Given the description of an element on the screen output the (x, y) to click on. 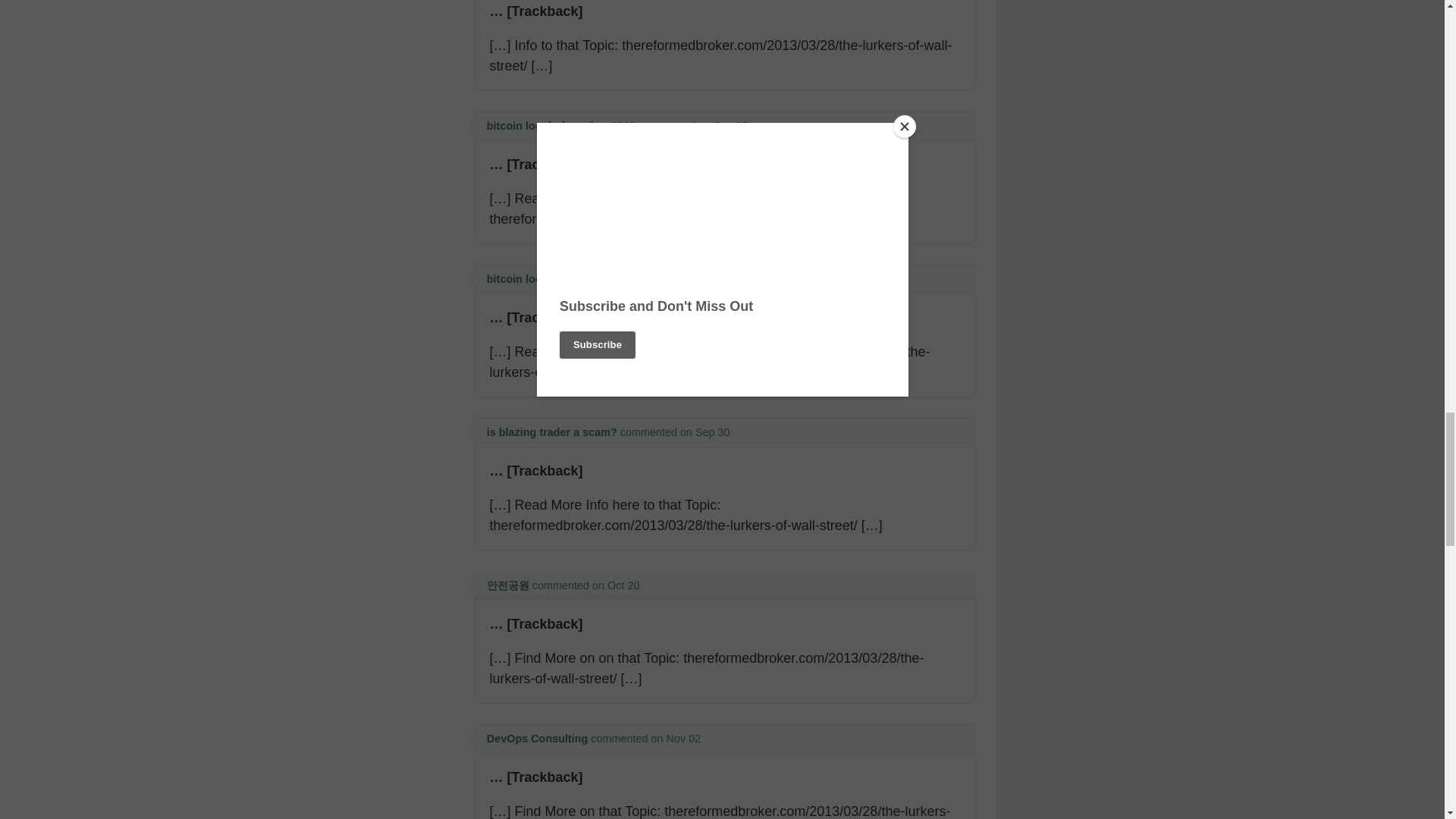
bitcoin loophole review (547, 278)
bitcoin loophole review 2020 (560, 125)
is blazing trader a scam? (551, 431)
DevOps Consulting (537, 738)
